Given the description of an element on the screen output the (x, y) to click on. 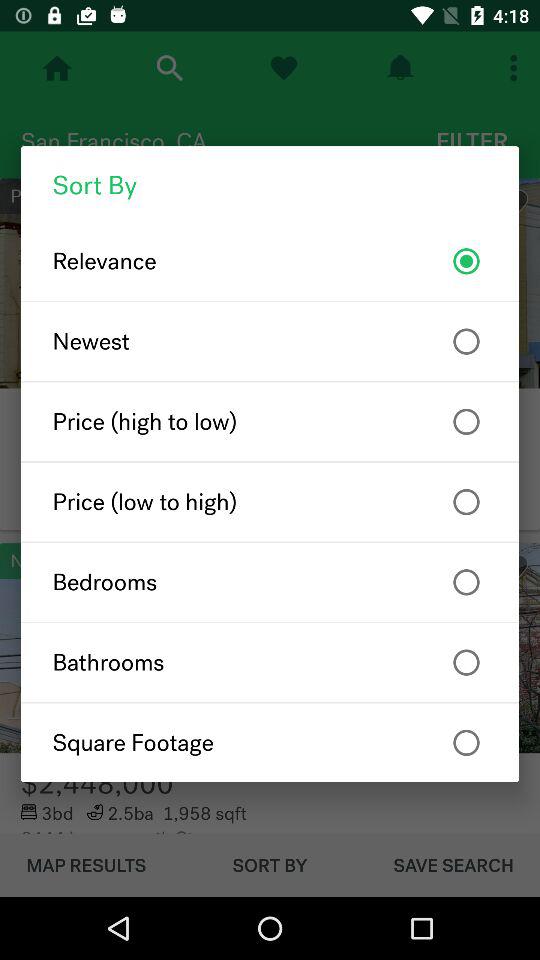
open item below bathrooms item (270, 742)
